Given the description of an element on the screen output the (x, y) to click on. 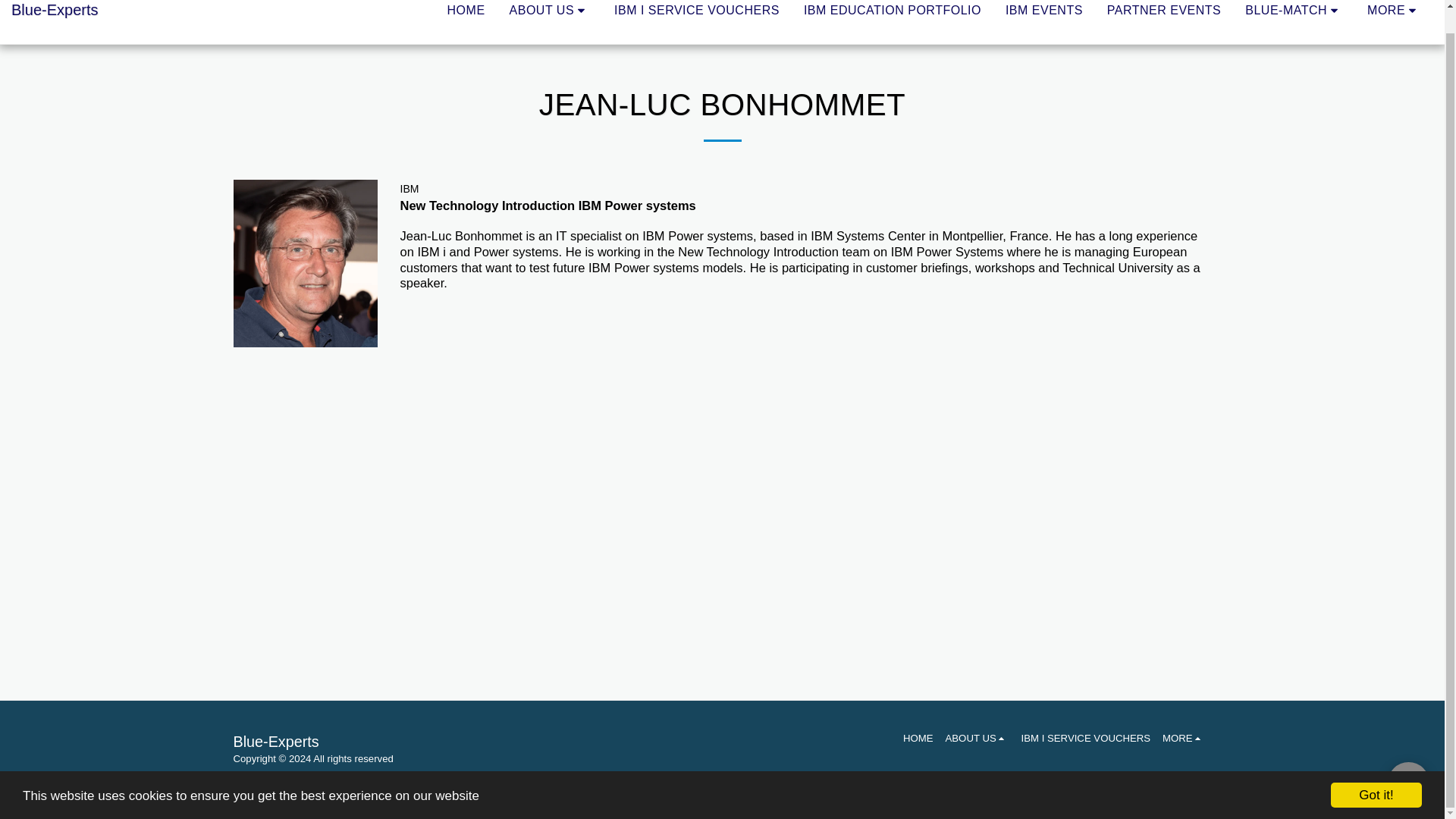
IBM EVENTS (1044, 11)
BLUE-MATCH   (1293, 11)
ABOUT US   (549, 11)
PARTNER EVENTS (1163, 11)
IBM I SERVICE VOUCHERS (696, 11)
HOME (465, 11)
Blue-Experts (55, 22)
MORE   (1393, 11)
IBM EDUCATION PORTFOLIO (892, 11)
